Given the description of an element on the screen output the (x, y) to click on. 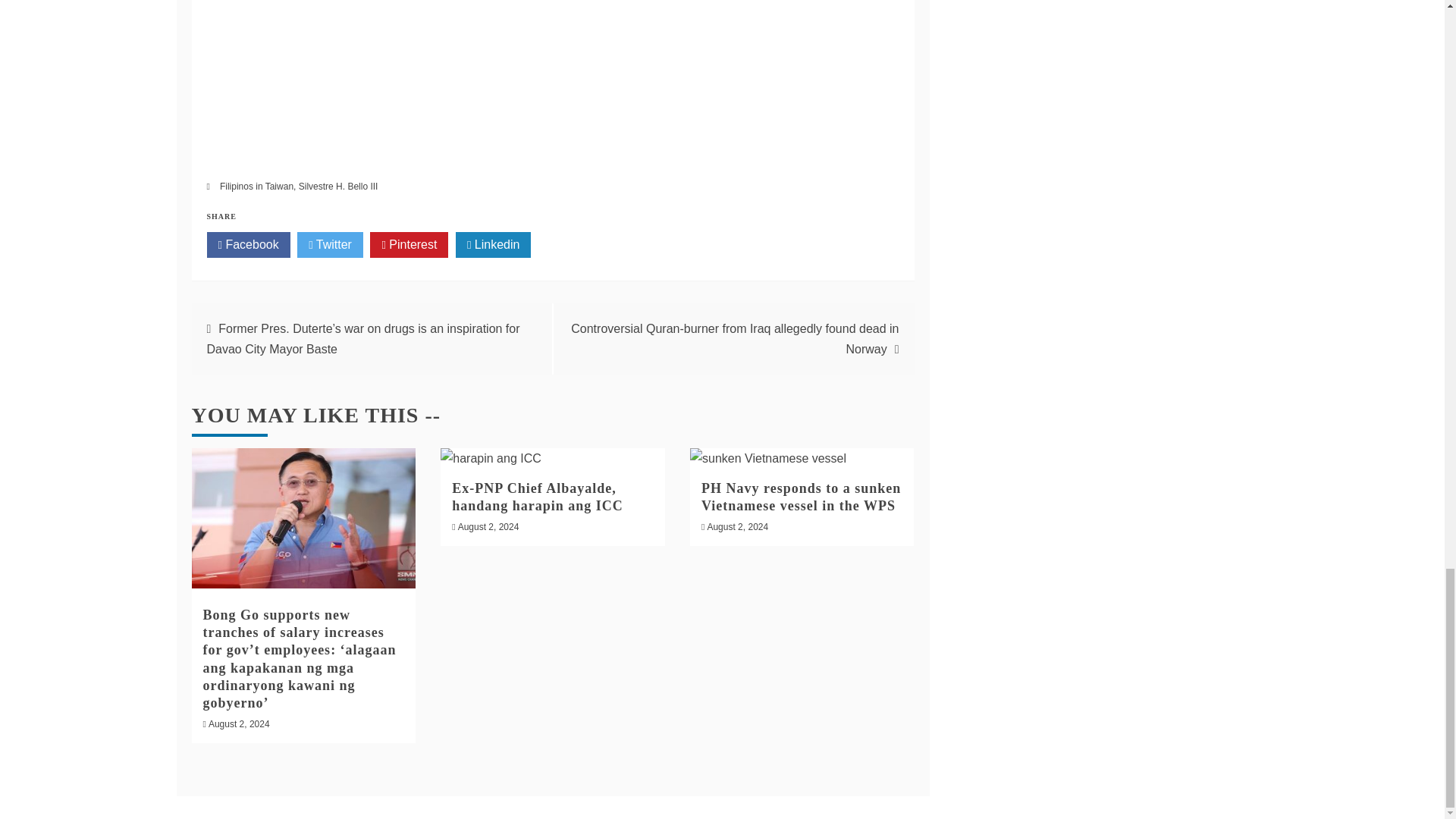
Filipinos in Taiwan (256, 185)
Linkedin (493, 244)
Pinterest (408, 244)
Twitter (329, 244)
Facebook (247, 244)
Silvestre H. Bello III (338, 185)
